Given the description of an element on the screen output the (x, y) to click on. 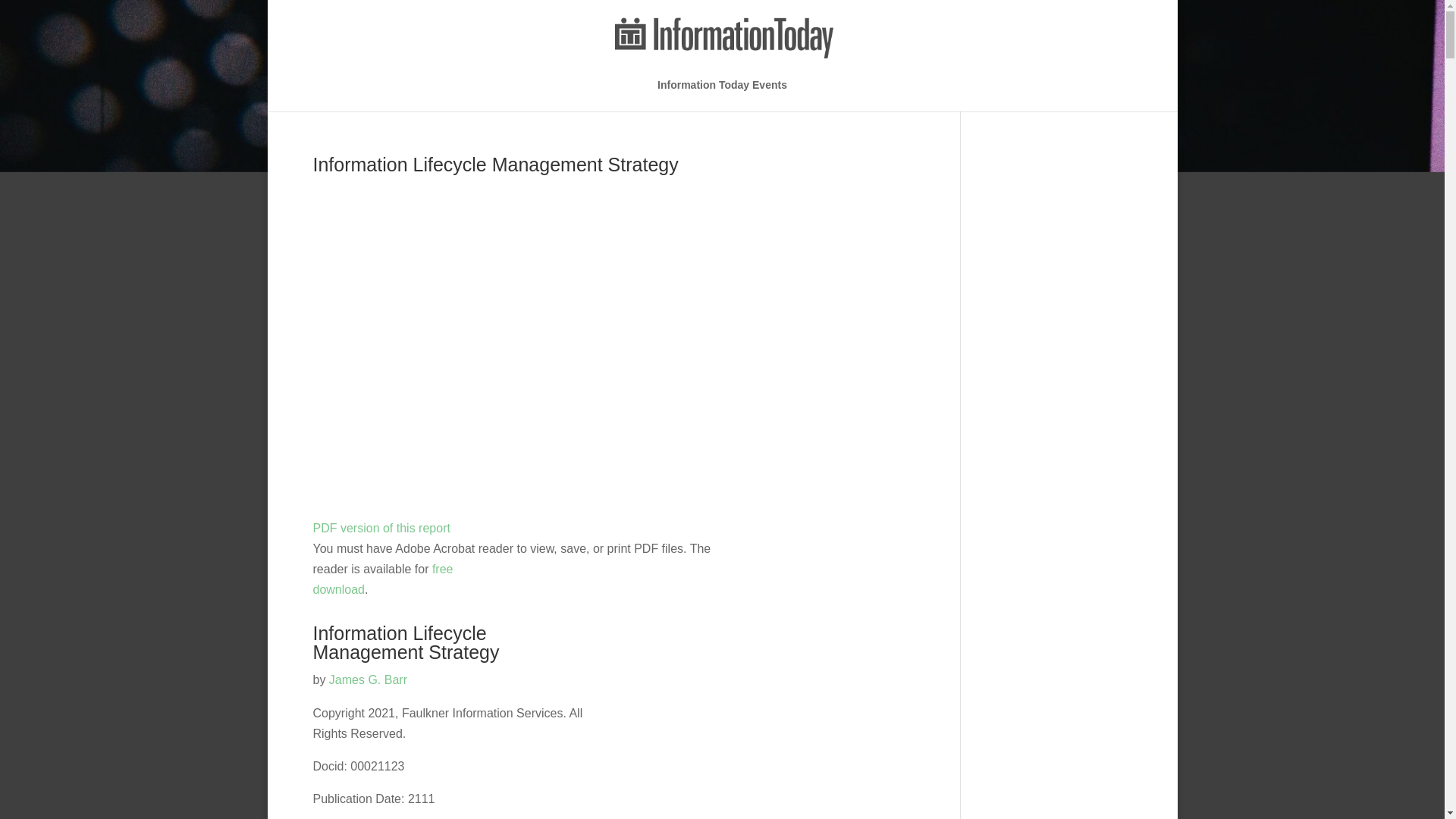
James G. Barr (368, 679)
PDF version of this report (381, 527)
Information Today Events (722, 95)
